Given the description of an element on the screen output the (x, y) to click on. 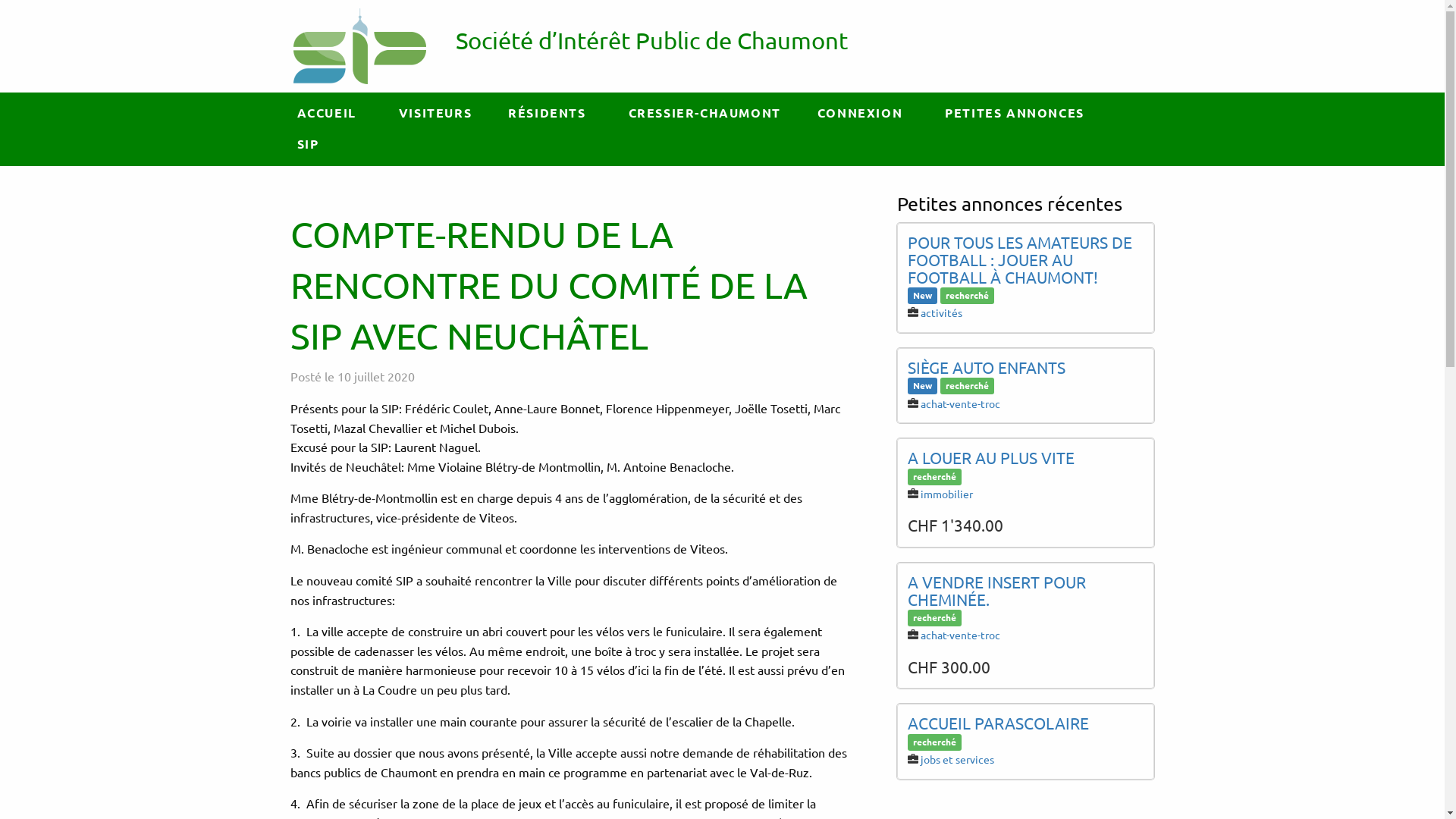
CRESSIER-CHAUMONT Element type: text (704, 113)
jobs et services Element type: text (957, 758)
achat-vente-troc Element type: text (960, 634)
immobilier Element type: text (946, 493)
ACCUEIL Element type: text (329, 113)
SIP Element type: text (308, 143)
achat-vente-troc Element type: text (960, 403)
ACCUEIL PARASCOLAIRE Element type: text (997, 722)
A LOUER AU PLUS VITE Element type: text (989, 457)
VISITEURS Element type: text (434, 113)
PETITES ANNONCES Element type: text (1017, 113)
CONNEXION Element type: text (862, 113)
